Given the description of an element on the screen output the (x, y) to click on. 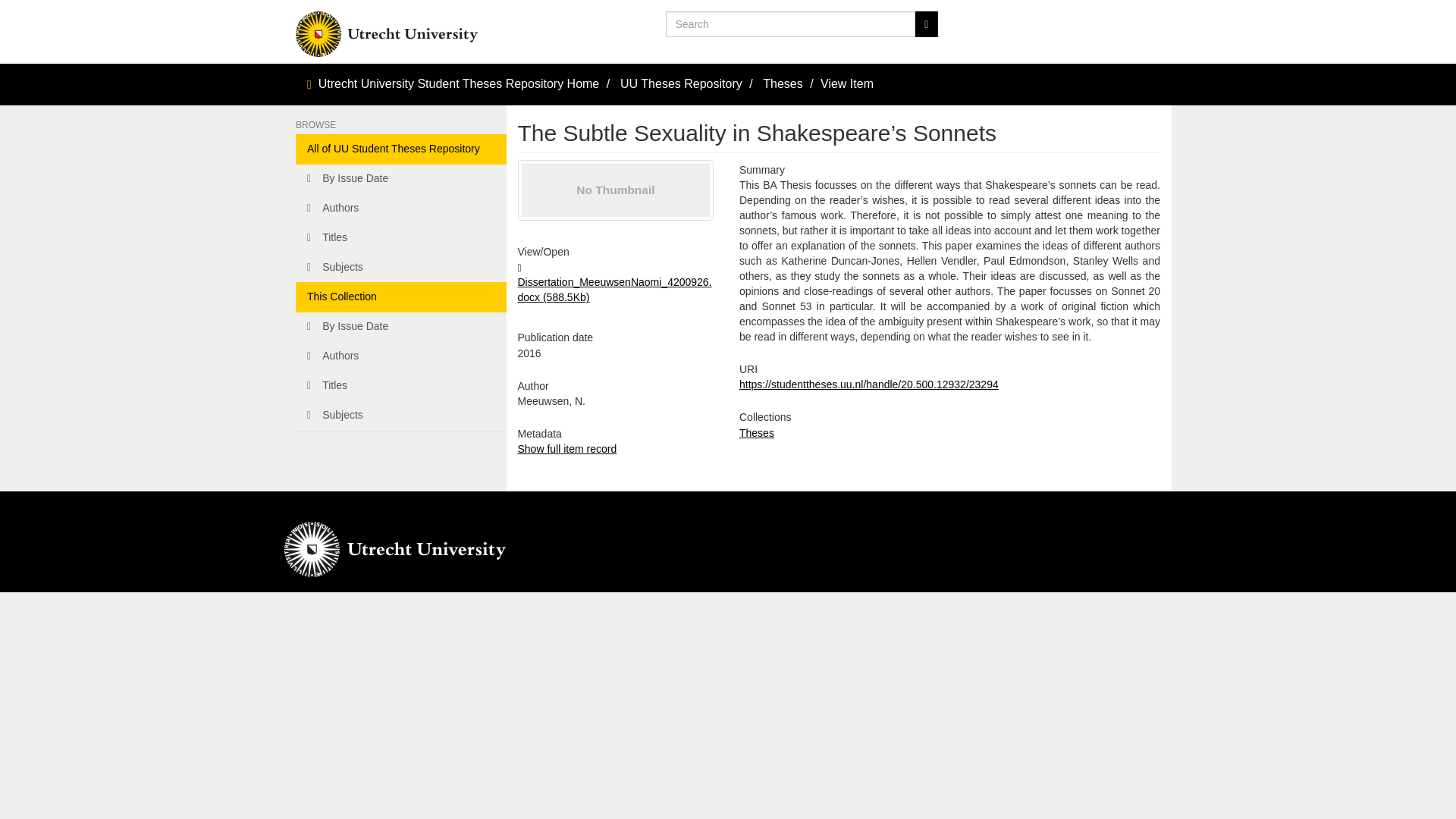
All of UU Student Theses Repository (400, 149)
Titles (400, 237)
Go (925, 23)
By Issue Date (400, 178)
Theses (782, 83)
UU Theses Repository (681, 83)
Theses (756, 432)
Utrecht University Student Theses Repository Home (458, 83)
By Issue Date (400, 327)
Authors (400, 356)
Titles (400, 386)
This Collection (400, 296)
Show full item record (565, 449)
Subjects (400, 415)
Authors (400, 208)
